Given the description of an element on the screen output the (x, y) to click on. 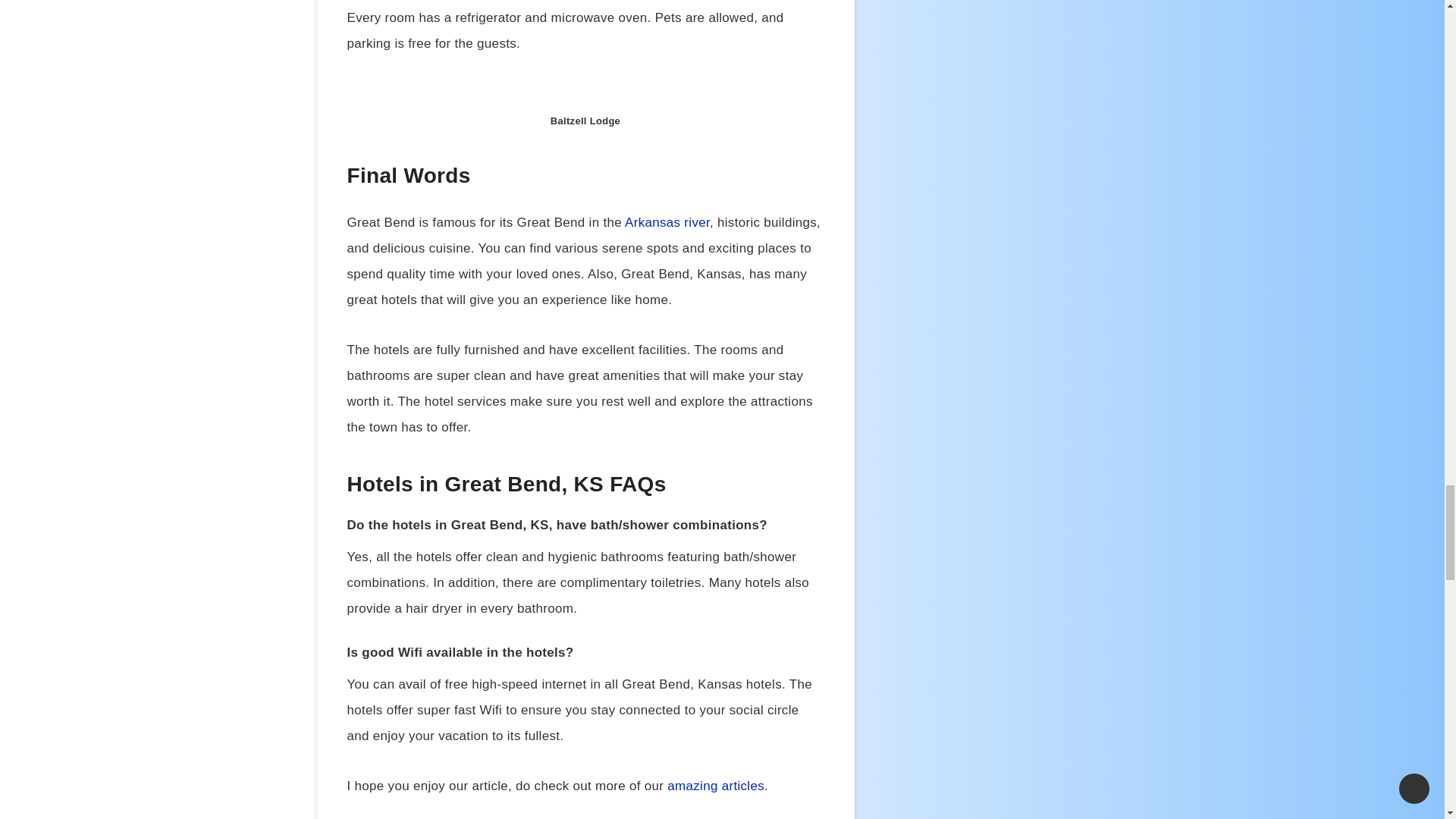
amazing articles (715, 785)
Arkansas river (667, 222)
